Given the description of an element on the screen output the (x, y) to click on. 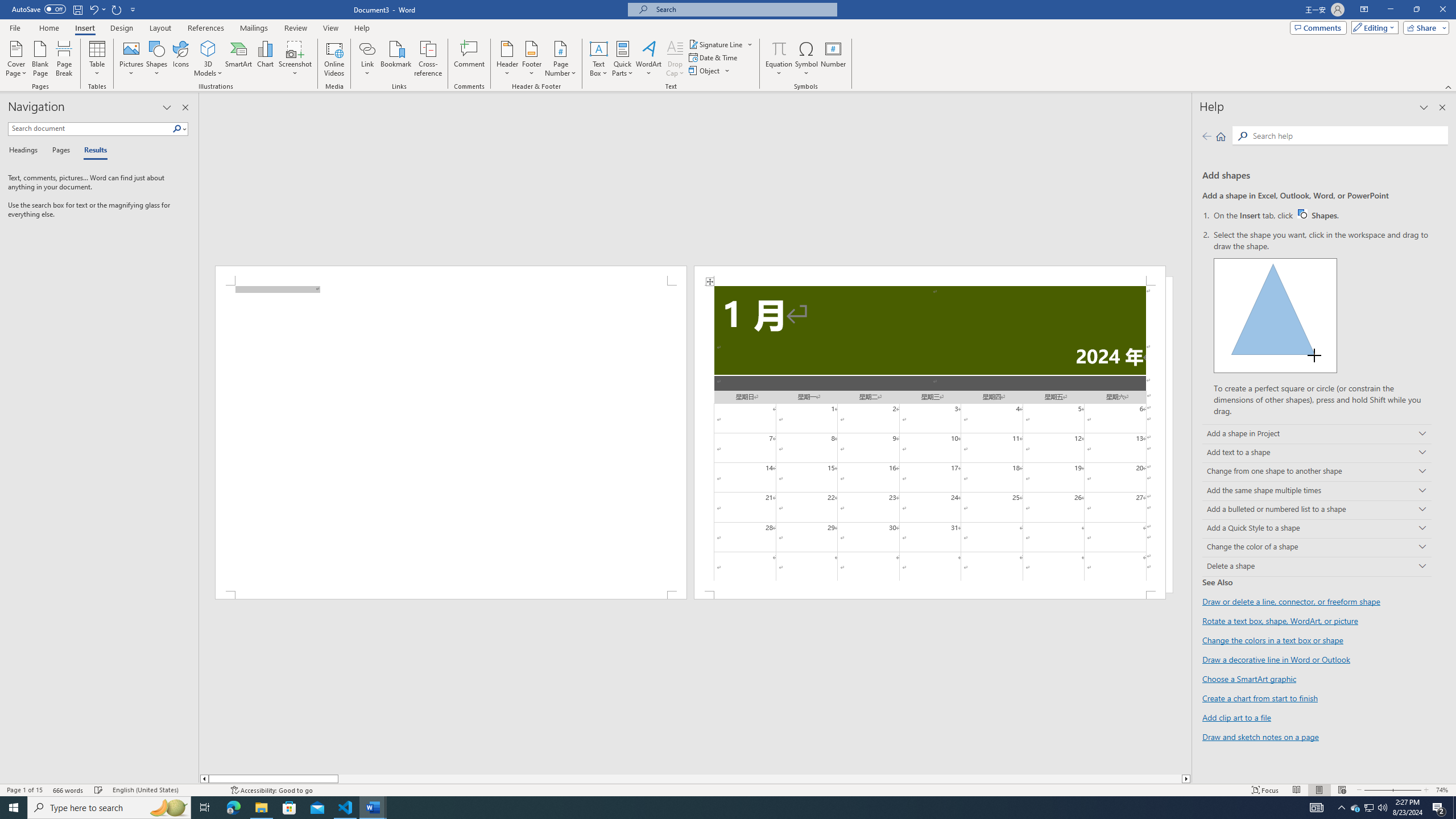
Class: NetUIScrollBar (695, 778)
Web Layout (1342, 790)
Object... (709, 69)
Word Count 666 words (68, 790)
Change the color of a shape (1316, 547)
Icons (180, 58)
Draw or delete a line, connector, or freeform shape (1291, 601)
Customize Quick Access Toolbar (133, 9)
Collapse the Ribbon (1448, 86)
Repeat Doc Close (117, 9)
Print Layout (1318, 790)
Choose a SmartArt graphic (1248, 678)
Add a shape in Project (1316, 434)
Task Pane Options (167, 107)
